Given the description of an element on the screen output the (x, y) to click on. 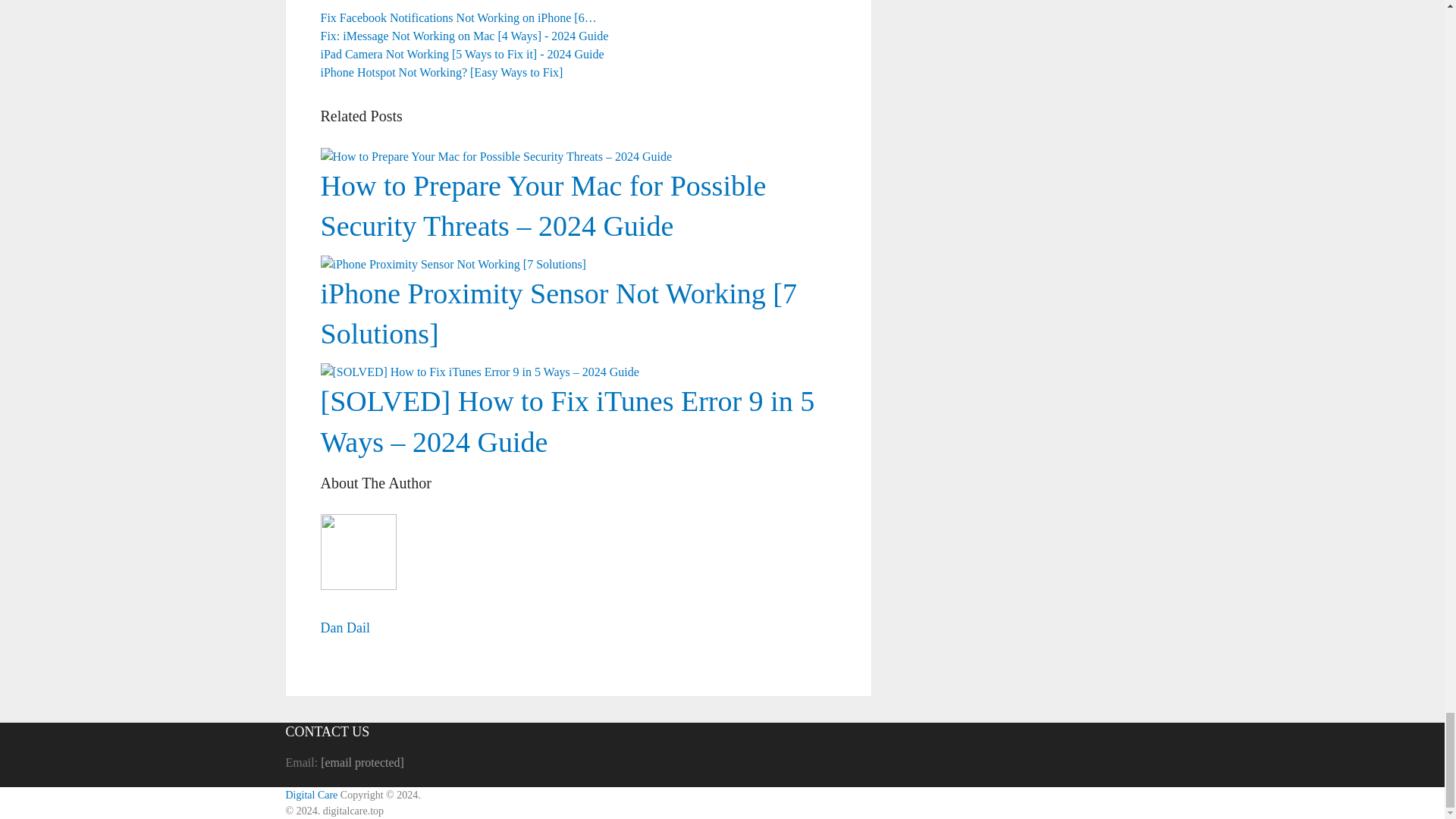
 Tech Help, News and Reviews 2024 (311, 794)
Dan Dail (344, 627)
